Given the description of an element on the screen output the (x, y) to click on. 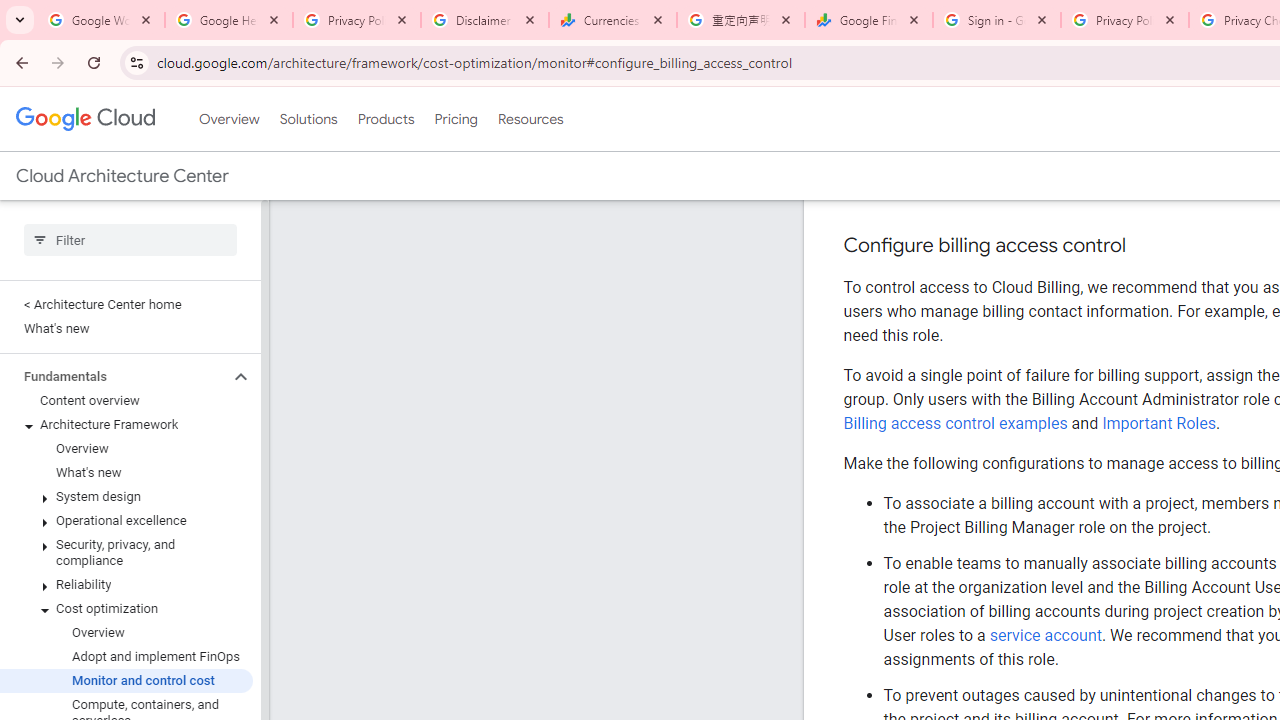
Operational excellence (126, 520)
Reliability (126, 584)
Resources (530, 119)
System design (126, 497)
Fundamentals (114, 376)
